Given the description of an element on the screen output the (x, y) to click on. 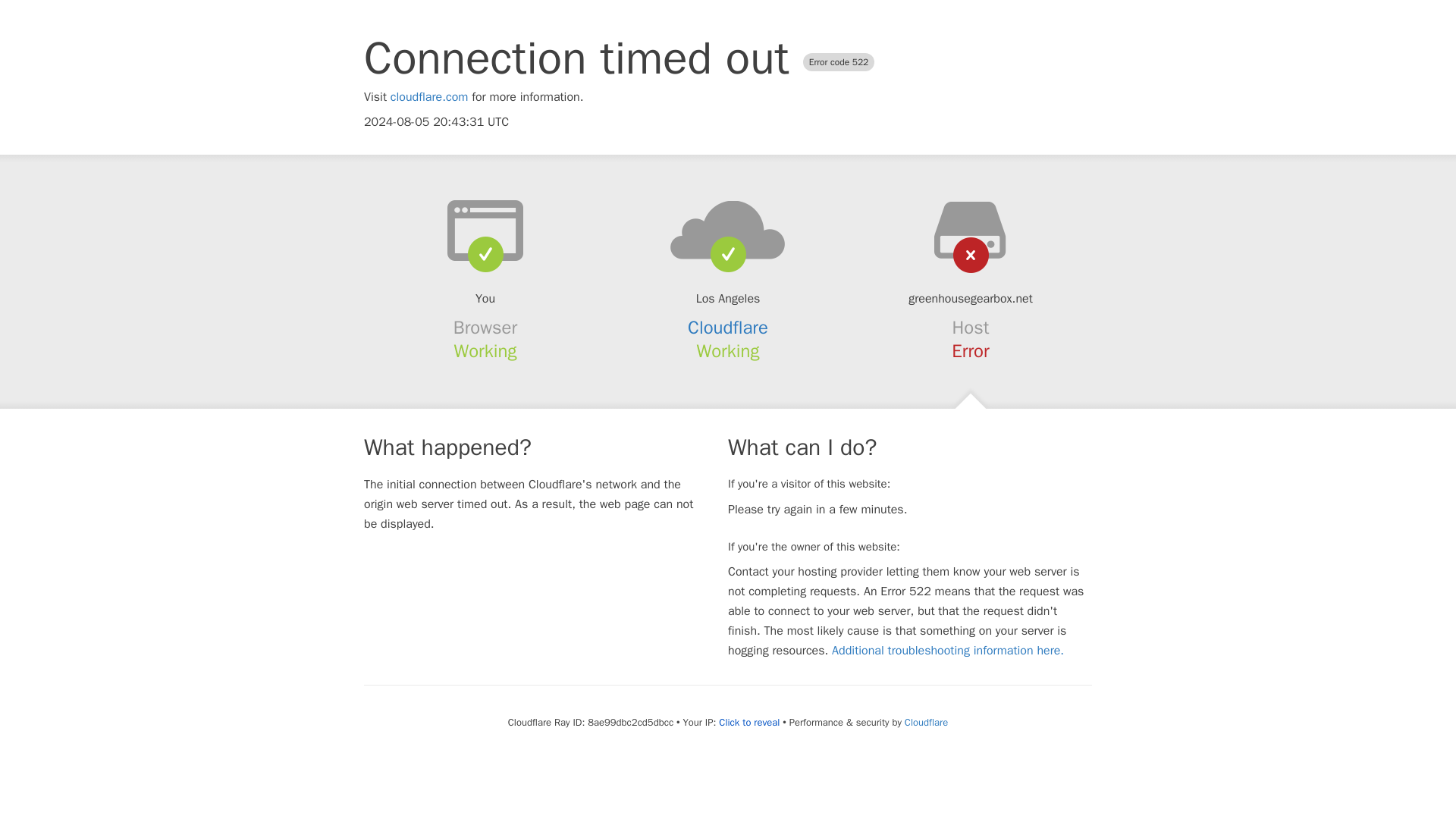
cloudflare.com (429, 96)
Click to reveal (748, 722)
Cloudflare (727, 327)
Cloudflare (925, 721)
Additional troubleshooting information here. (947, 650)
